Given the description of an element on the screen output the (x, y) to click on. 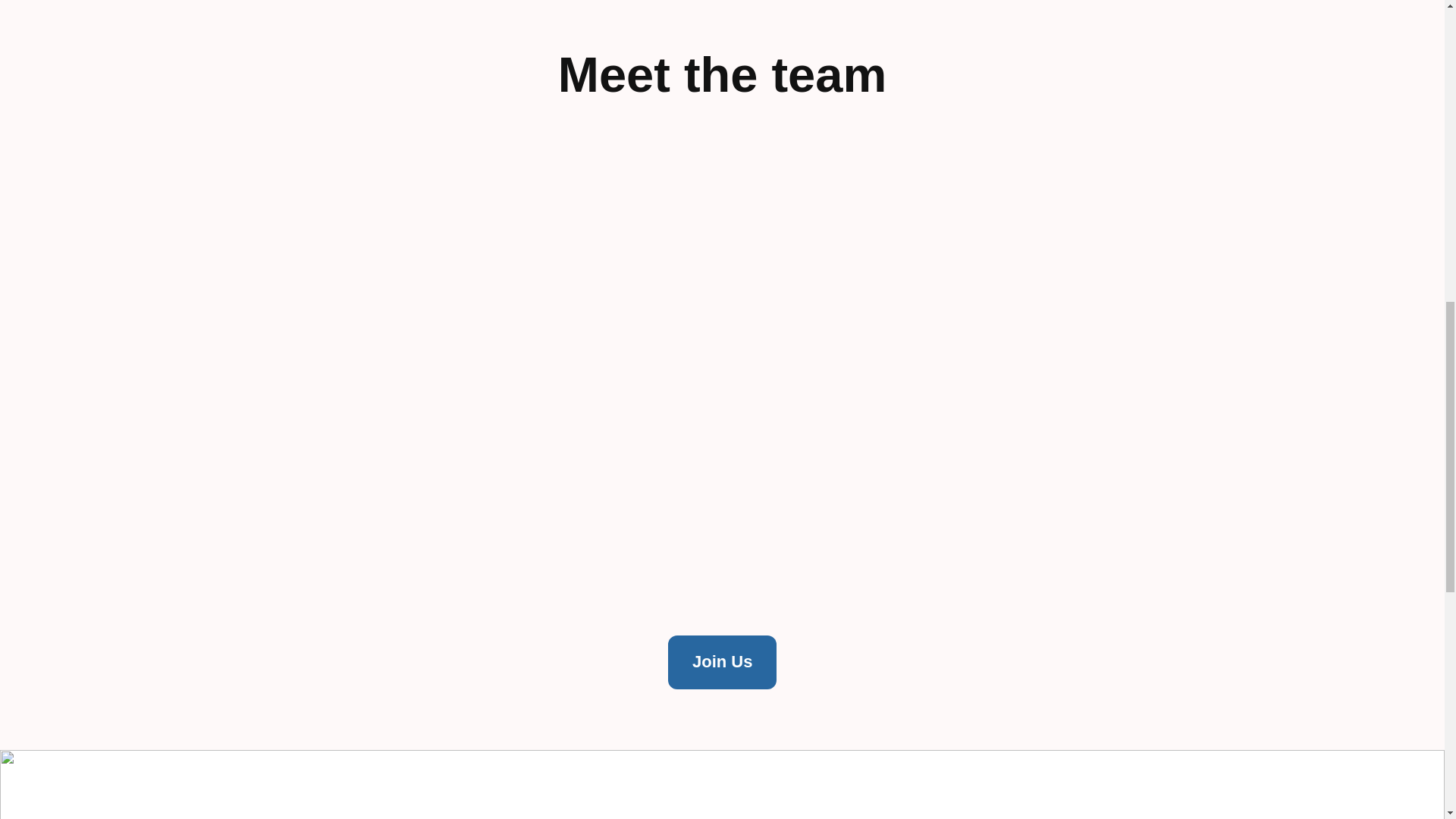
Join Us (722, 662)
